Given the description of an element on the screen output the (x, y) to click on. 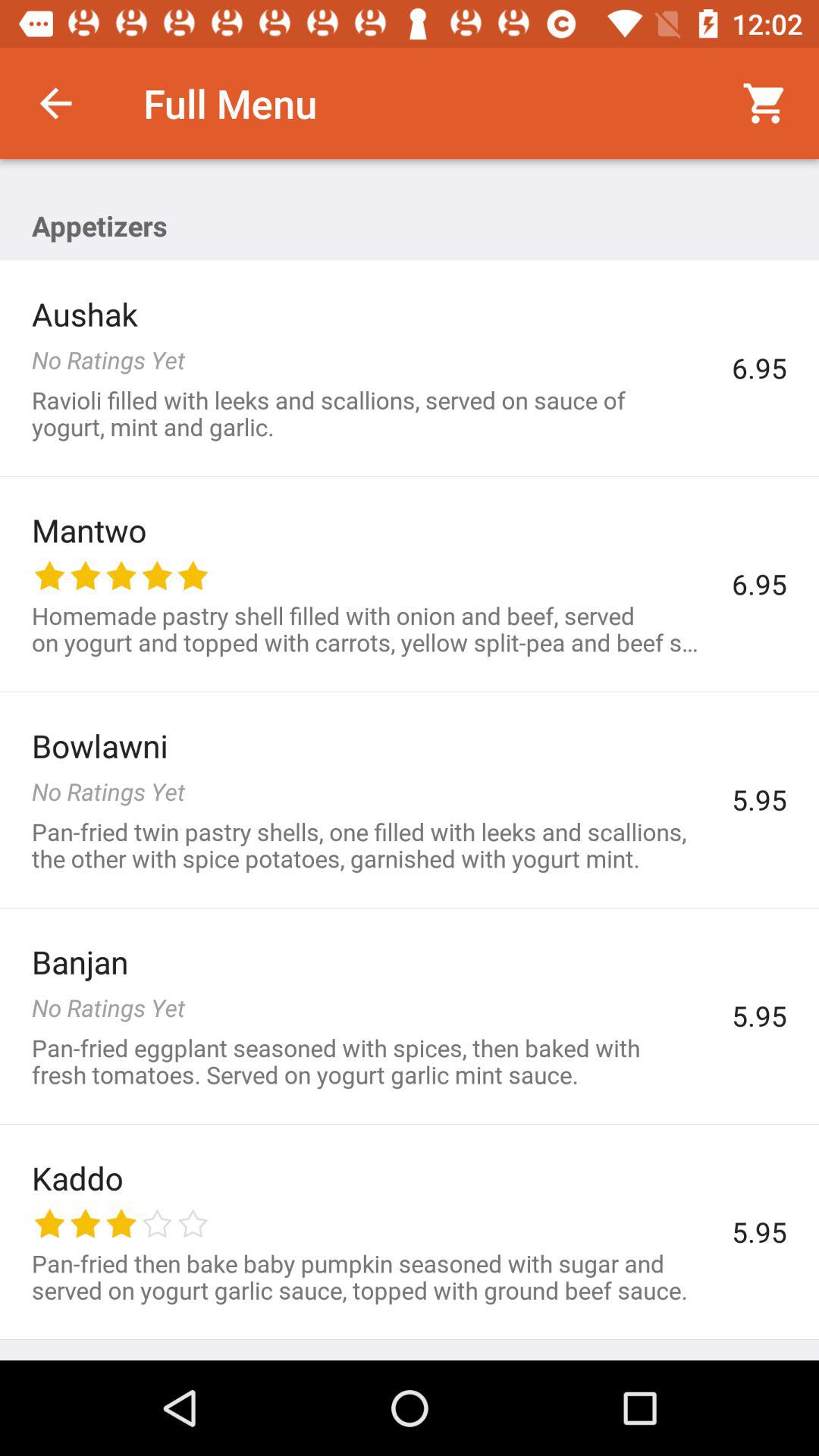
select item to the left of full menu icon (55, 103)
